Given the description of an element on the screen output the (x, y) to click on. 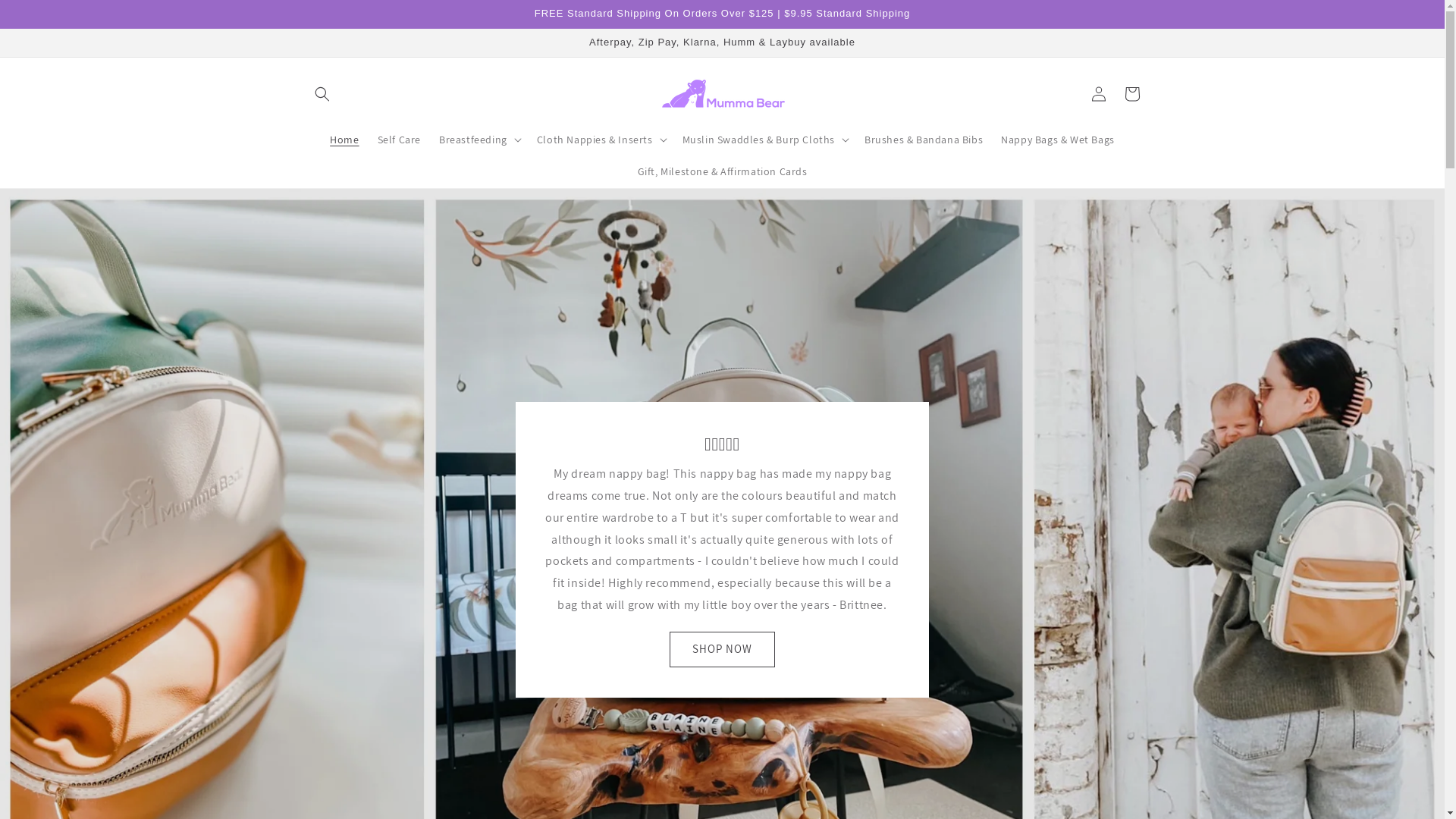
SHOP NOW Element type: text (722, 649)
Gift, Milestone & Affirmation Cards Element type: text (721, 171)
Log in Element type: text (1097, 93)
Self Care Element type: text (398, 139)
Cart Element type: text (1131, 93)
Submit Element type: text (21, 7)
Nappy Bags & Wet Bags Element type: text (1057, 139)
Home Element type: text (343, 139)
Brushes & Bandana Bibs Element type: text (923, 139)
